Given the description of an element on the screen output the (x, y) to click on. 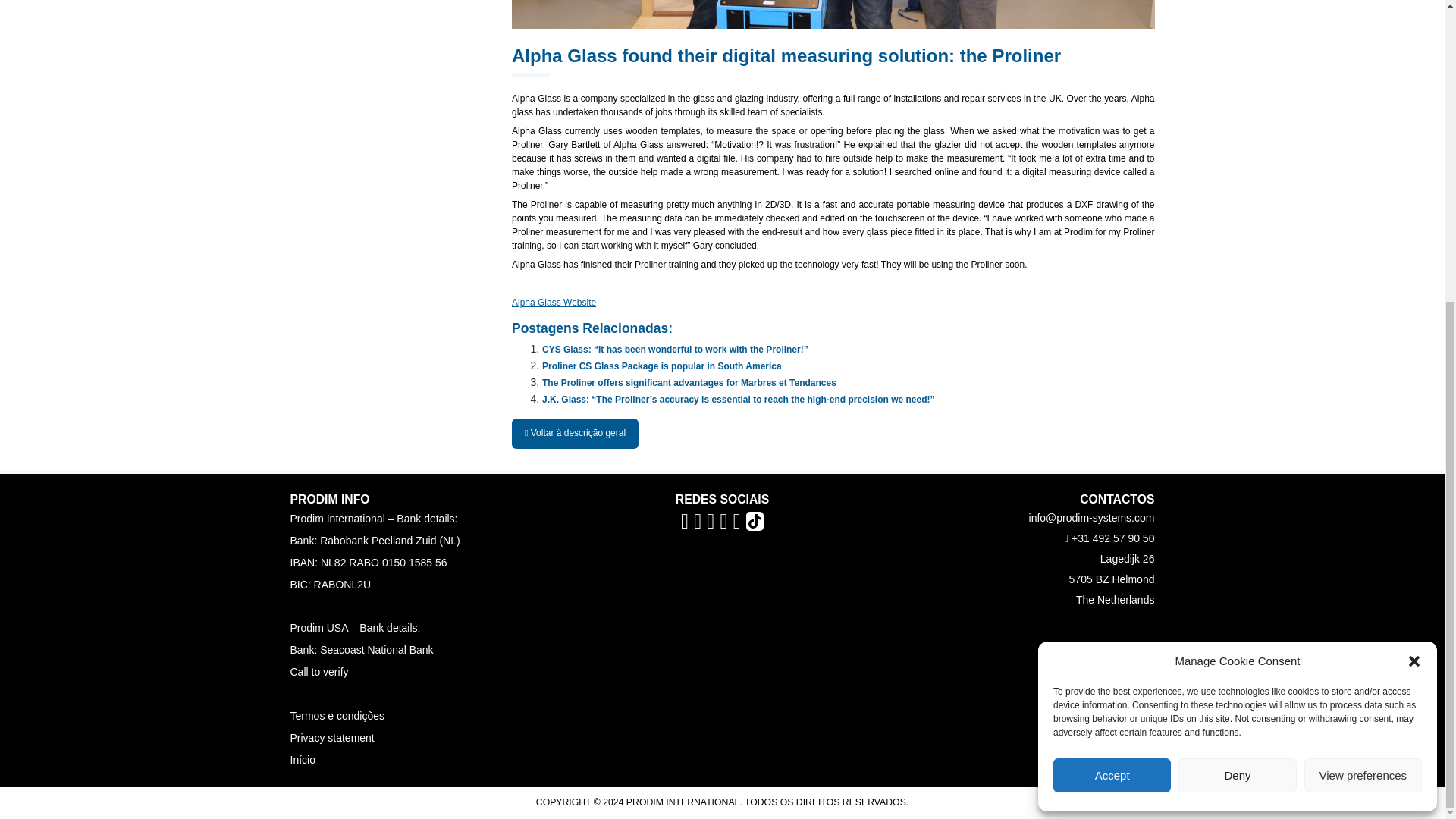
View preferences (1363, 304)
Proliner CS Glass Package is popular in South America (661, 366)
Deny (1236, 304)
Accept (1111, 304)
